Given the description of an element on the screen output the (x, y) to click on. 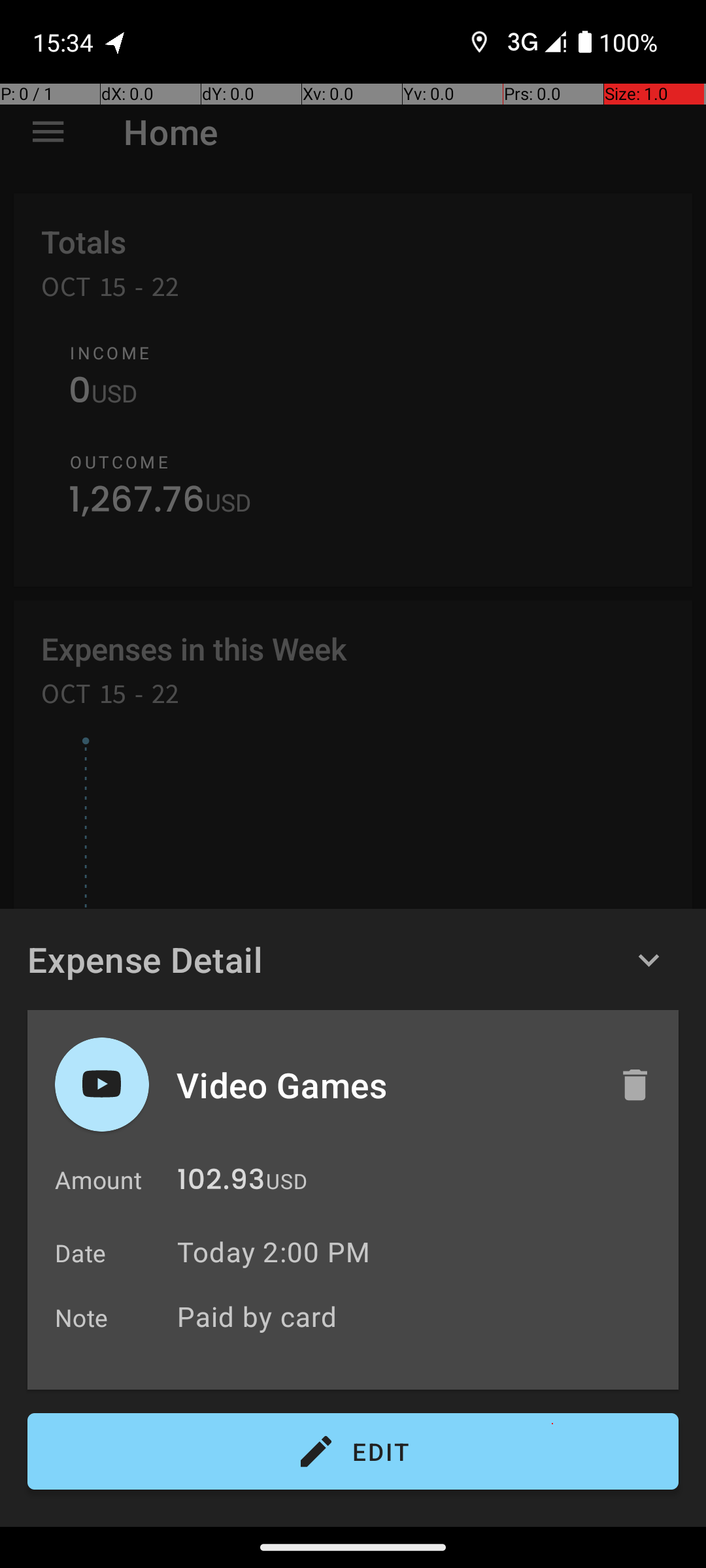
Video Games Element type: android.widget.TextView (383, 1084)
102.93 Element type: android.widget.TextView (220, 1182)
Today 2:00 PM Element type: android.widget.TextView (273, 1251)
Paid by card Element type: android.widget.TextView (420, 1315)
